Given the description of an element on the screen output the (x, y) to click on. 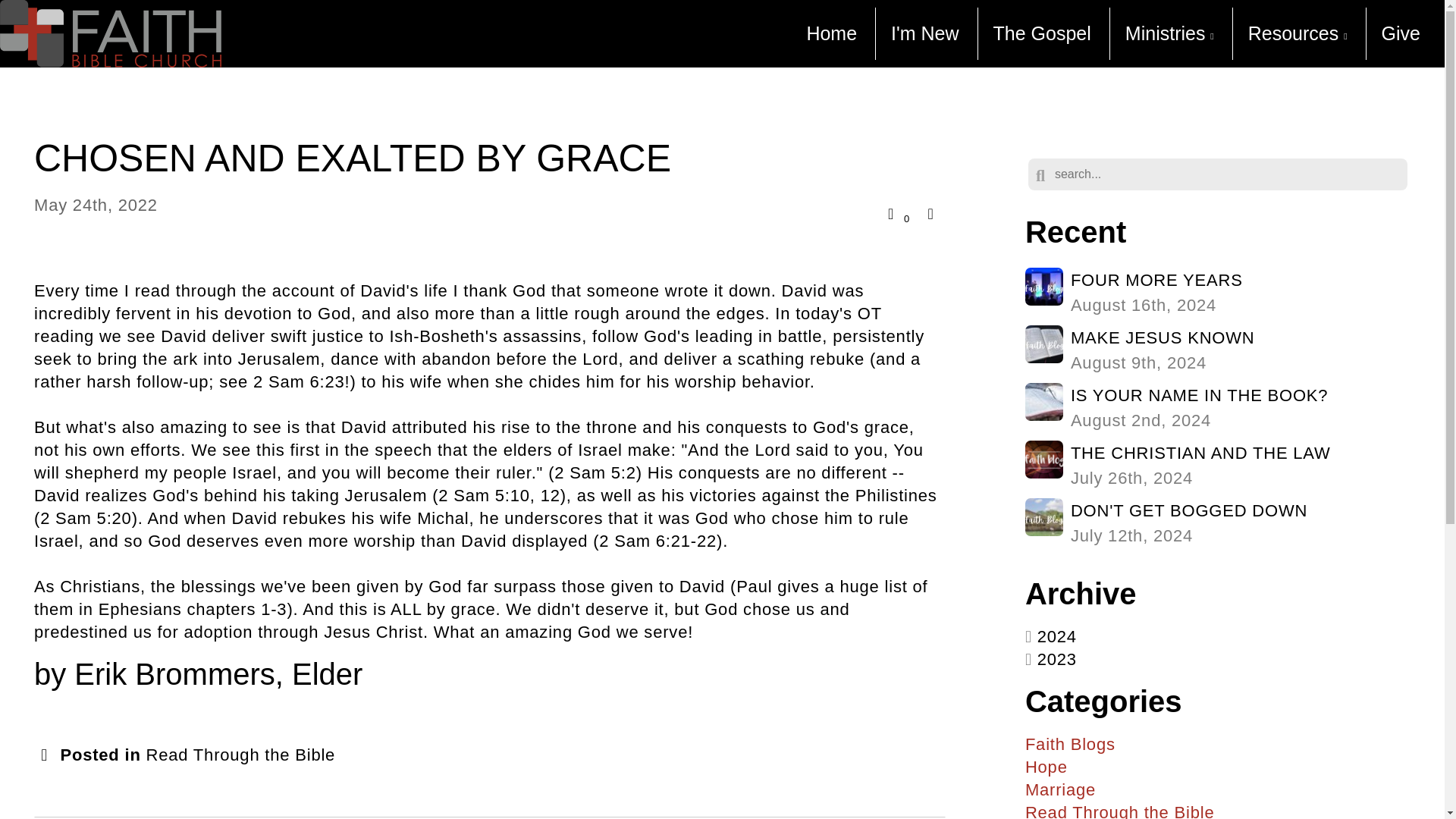
Resources  (1296, 33)
Give (1400, 33)
0 (1217, 408)
Home (1217, 465)
Read Through the Bible (897, 212)
I'm New (1217, 350)
The Gospel (831, 33)
